Given the description of an element on the screen output the (x, y) to click on. 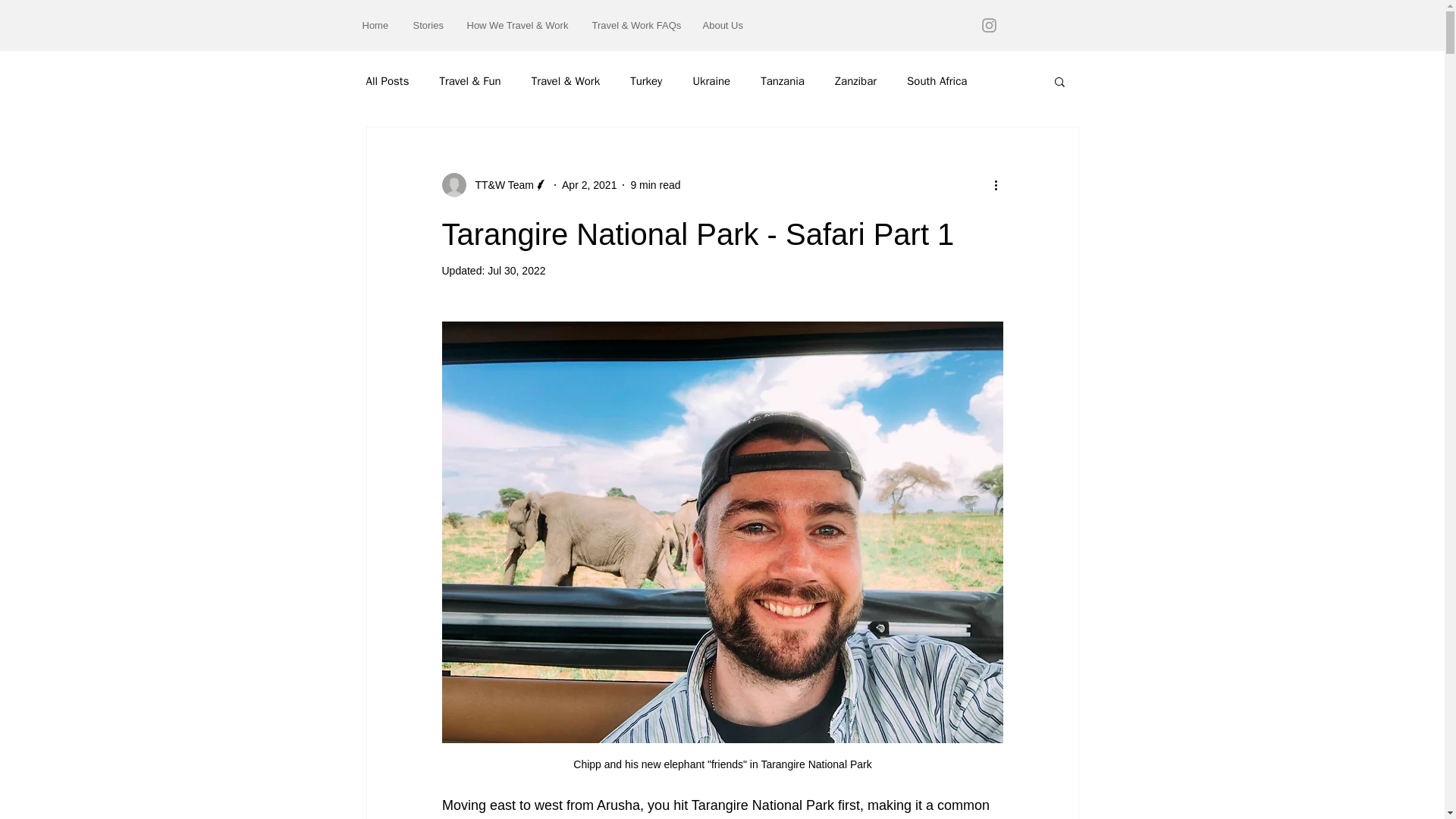
Apr 2, 2021 (588, 184)
About Us (723, 25)
9 min read (654, 184)
South Africa (936, 81)
Turkey (646, 81)
Stories (428, 25)
Jul 30, 2022 (515, 270)
Home (375, 25)
All Posts (387, 81)
Zanzibar (855, 81)
